Given the description of an element on the screen output the (x, y) to click on. 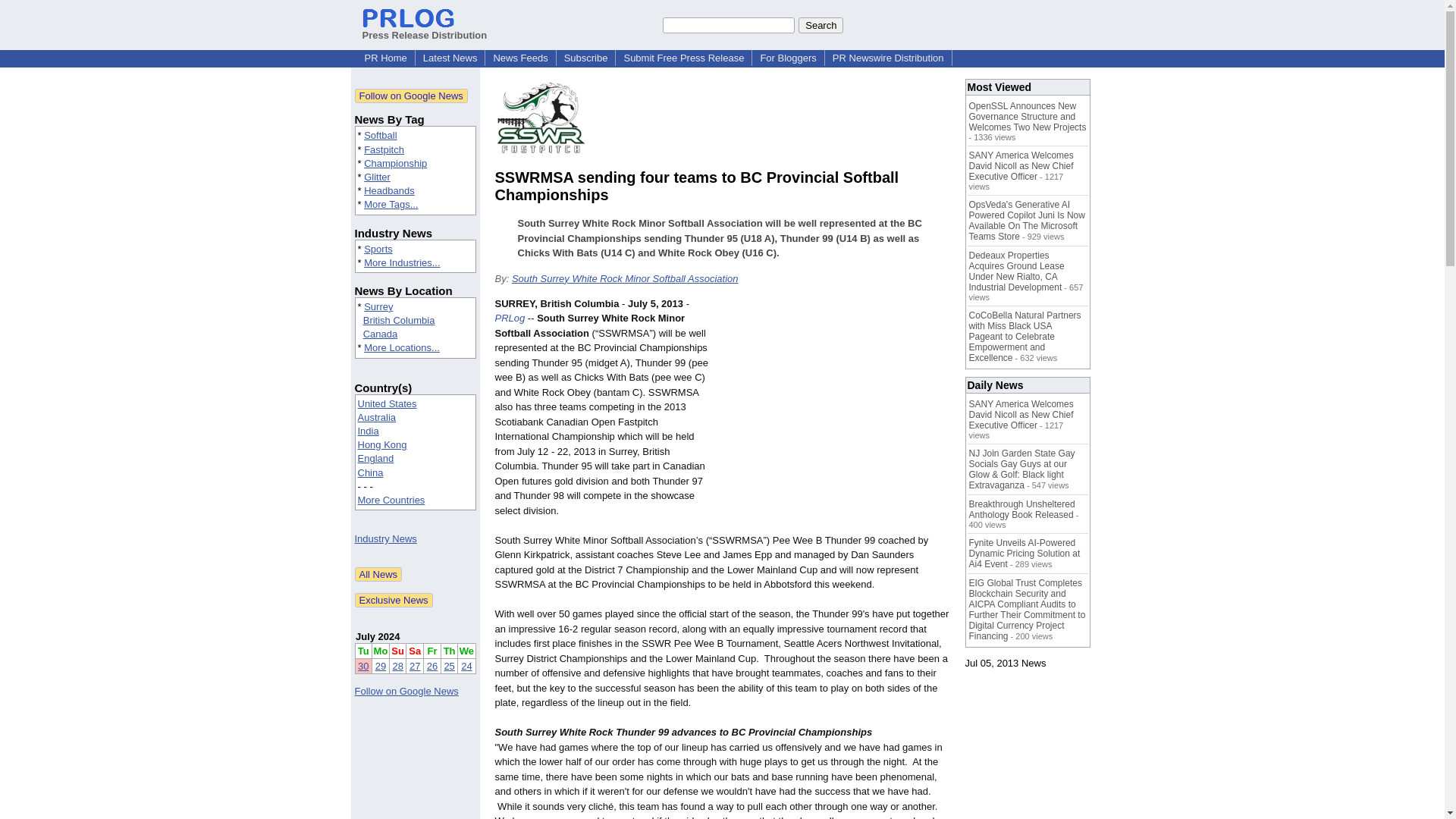
Softball (380, 134)
Glitter (377, 176)
India (368, 430)
Industry News (385, 538)
28 (397, 665)
Latest News (449, 57)
Exclusive News (393, 599)
Submit Free Press Release (683, 57)
Sports (378, 248)
News Feeds (519, 57)
All News (379, 574)
Follow on Google News (411, 95)
Canada (379, 333)
For Bloggers (788, 57)
Fastpitch (384, 149)
